Given the description of an element on the screen output the (x, y) to click on. 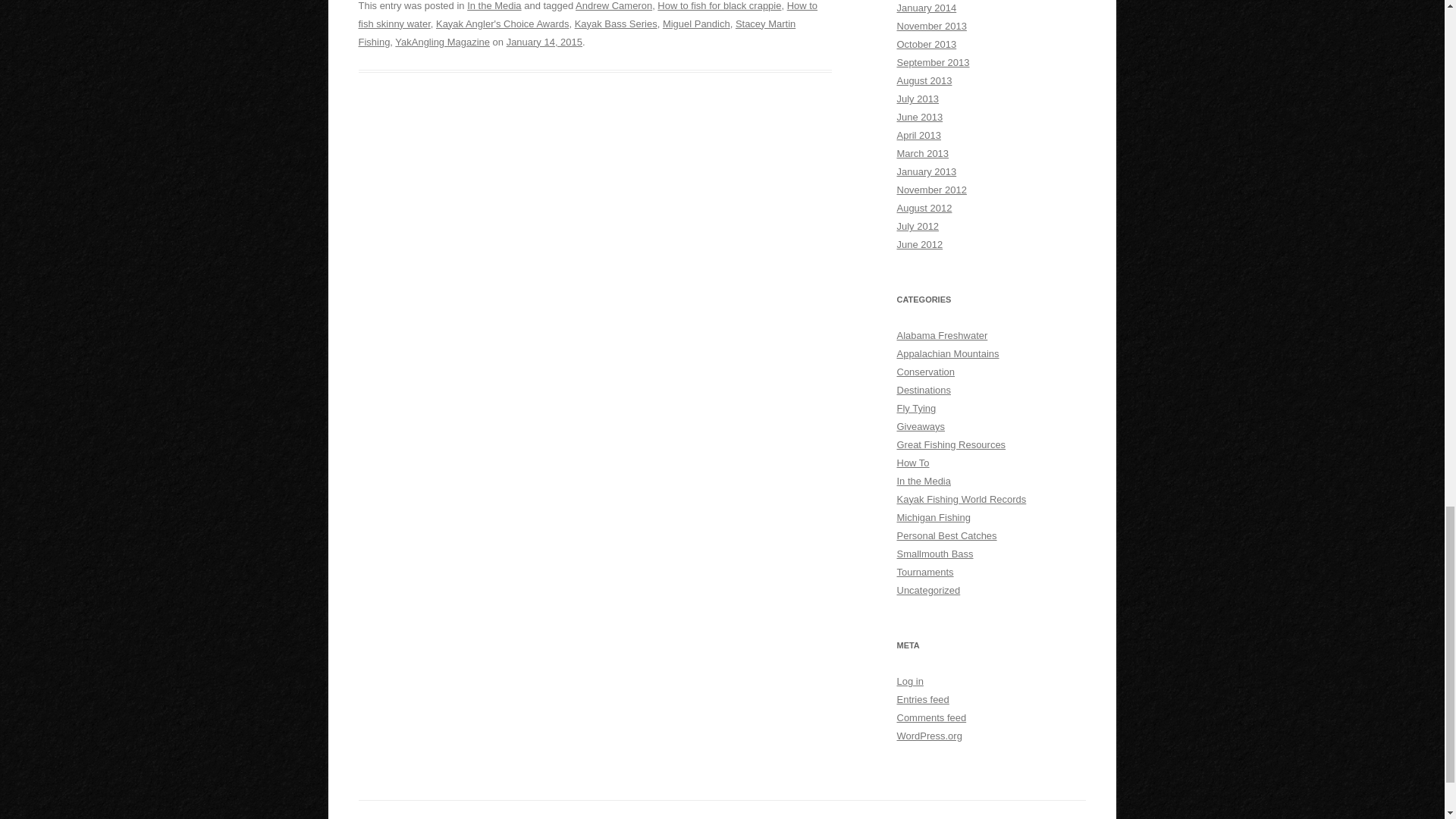
How to fish skinny water (587, 14)
Andrew Cameron (613, 5)
YakAngling Magazine (441, 41)
How to fish for black crappie (719, 5)
January 14, 2015 (544, 41)
Kayak Bass Series (616, 23)
In the Media (494, 5)
Miguel Pandich (696, 23)
Stacey Martin Fishing (576, 32)
Kayak Angler's Choice Awards (502, 23)
4:50 am (544, 41)
